Given the description of an element on the screen output the (x, y) to click on. 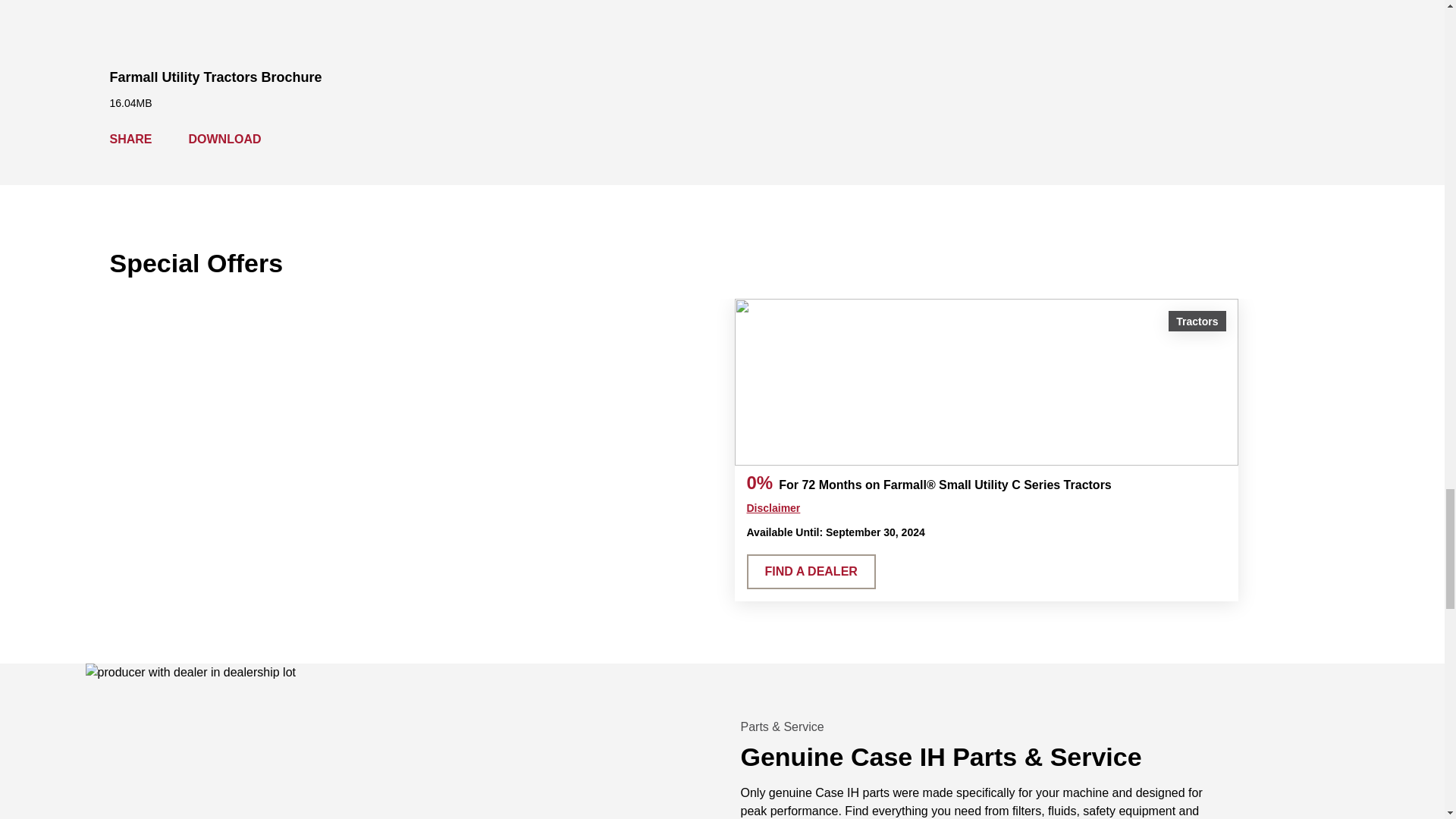
DOWNLOAD (228, 139)
Find a Dealer (810, 571)
SHARE (133, 139)
FIND A DEALER (810, 571)
